Given the description of an element on the screen output the (x, y) to click on. 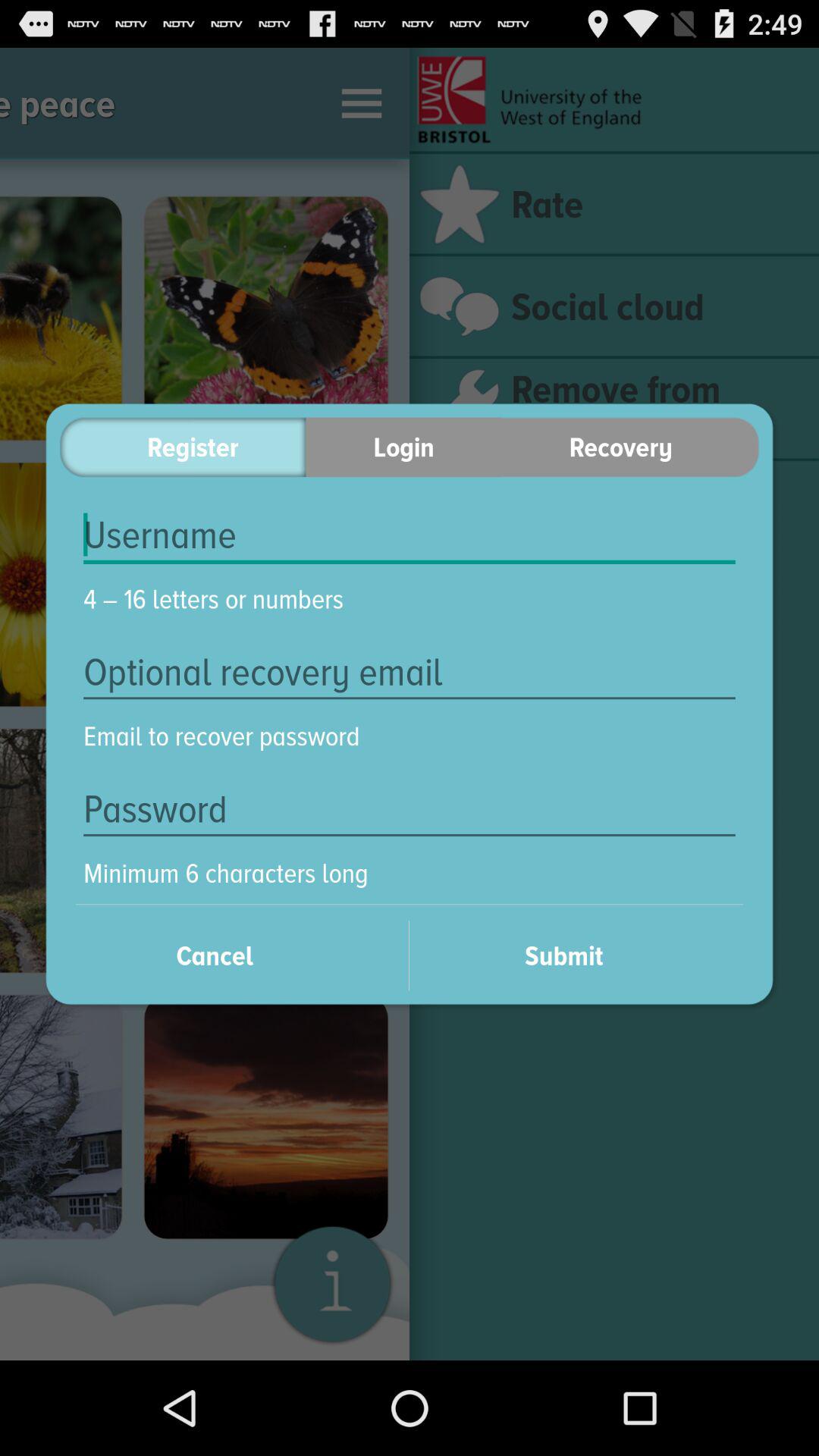
scroll to login item (403, 447)
